Given the description of an element on the screen output the (x, y) to click on. 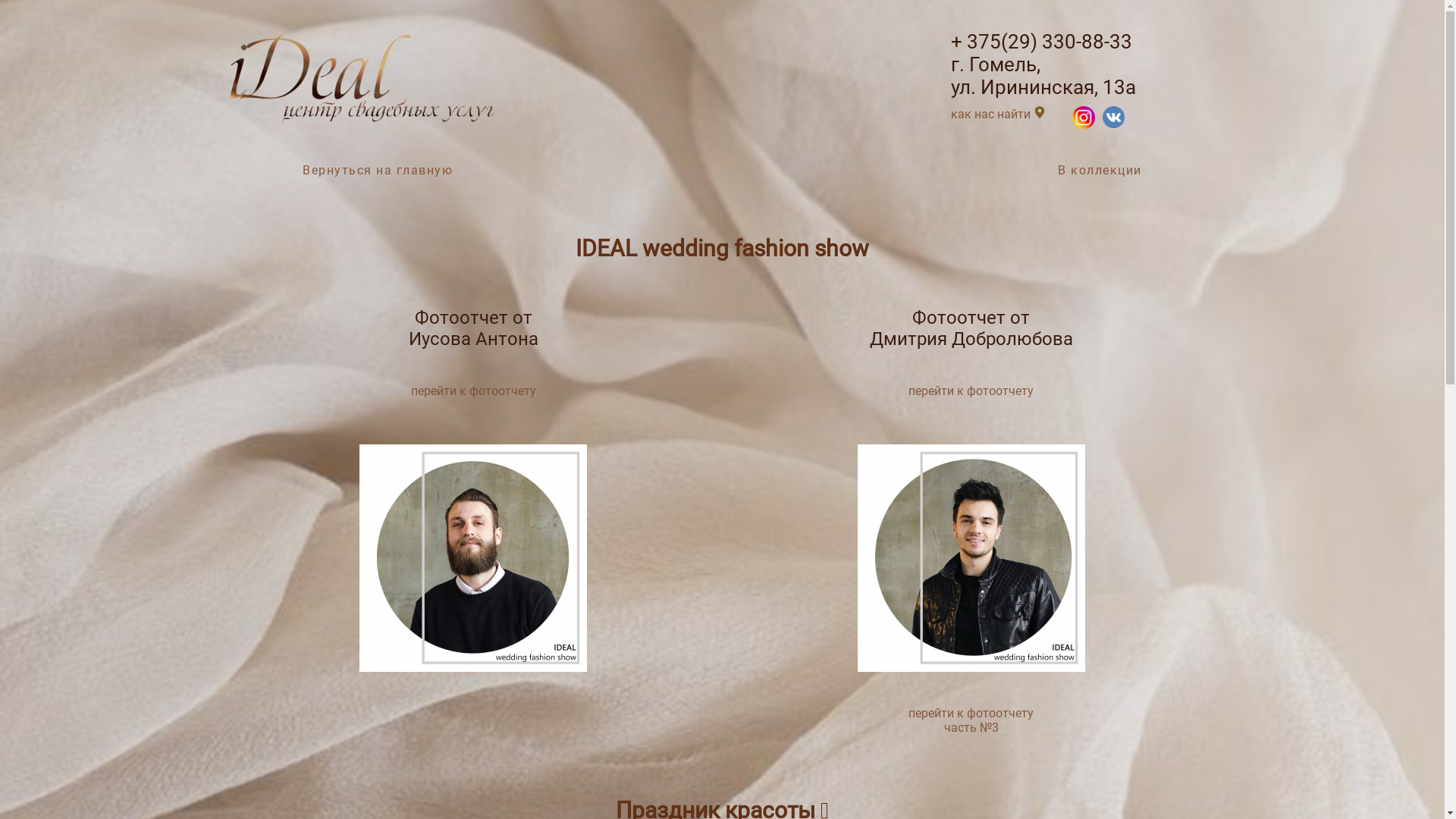
+ 375(29) 330-88-33 Element type: text (1041, 41)
